Given the description of an element on the screen output the (x, y) to click on. 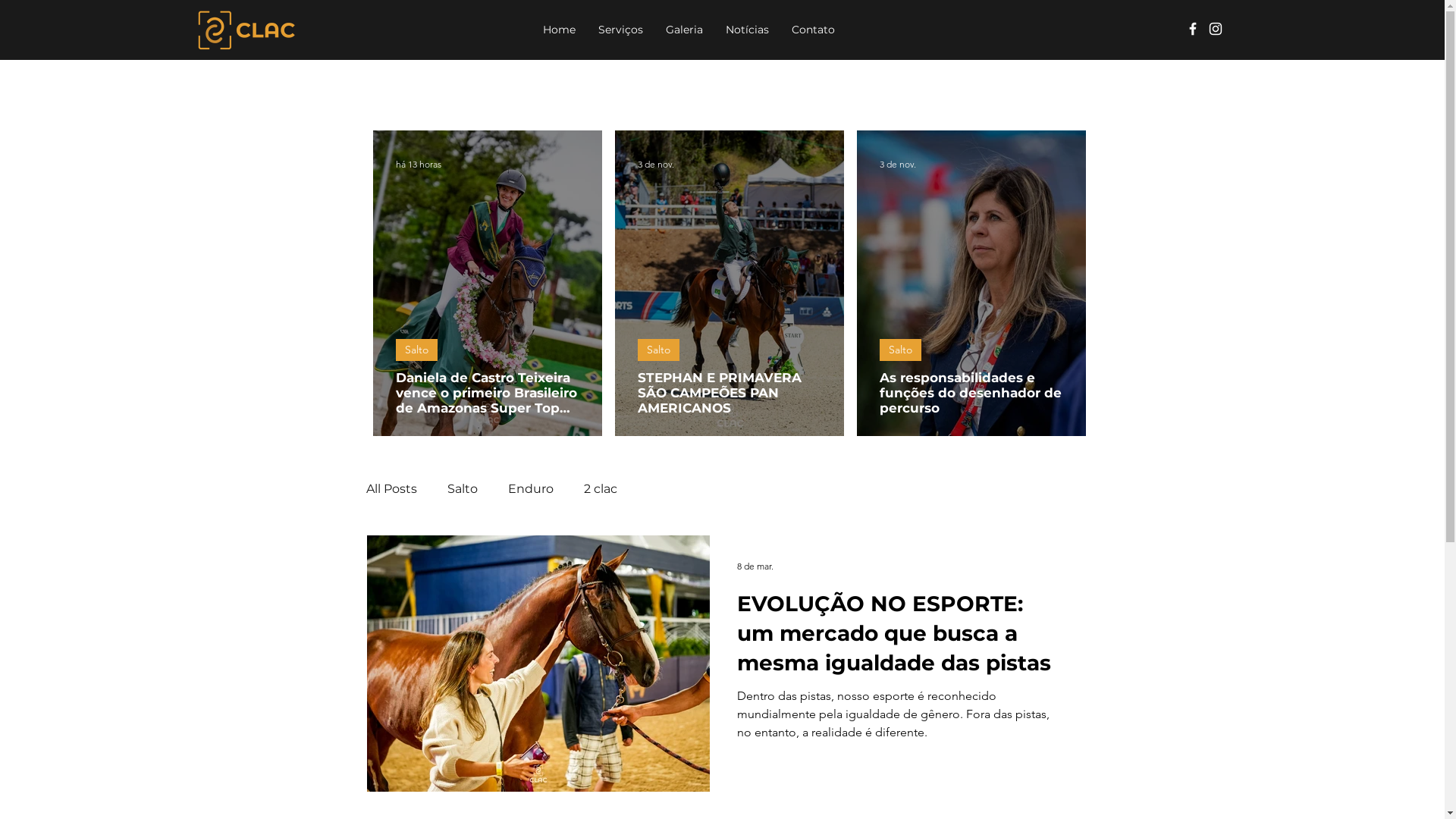
2 clac Element type: text (600, 488)
Salto Element type: text (657, 349)
Contato Element type: text (813, 29)
All Posts Element type: text (390, 488)
Galeria Element type: text (684, 29)
Salto Element type: text (900, 349)
Salto Element type: text (462, 488)
Salto Element type: text (416, 349)
Home Element type: text (558, 29)
Enduro Element type: text (530, 488)
